Given the description of an element on the screen output the (x, y) to click on. 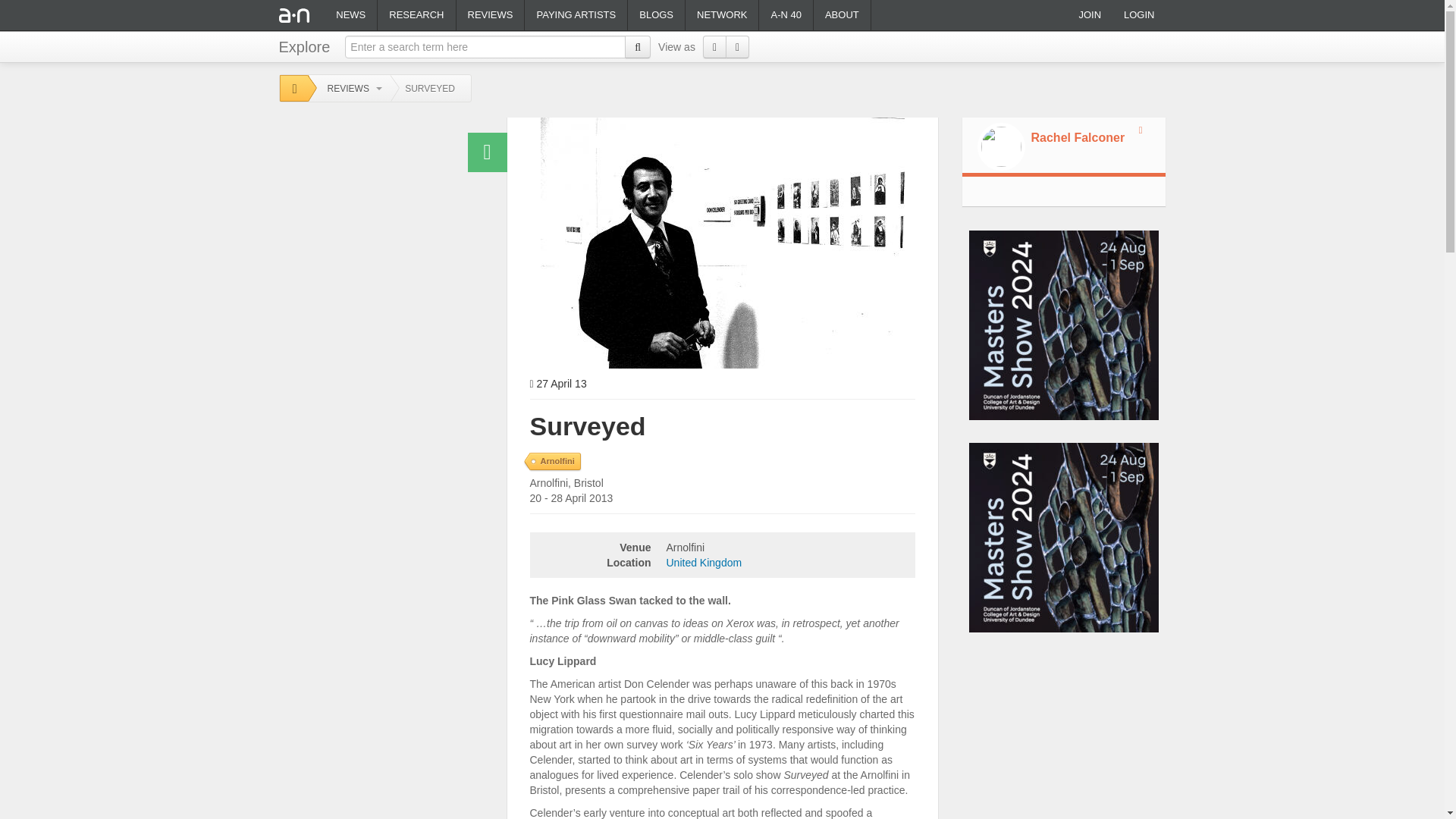
REVIEWS (350, 88)
Network (721, 15)
BLOGS (655, 15)
RESEARCH (415, 15)
A-N 40 (785, 15)
About (841, 15)
JOIN (1089, 15)
NETWORK (721, 15)
ABOUT (841, 15)
PAYING ARTISTS (575, 15)
